Given the description of an element on the screen output the (x, y) to click on. 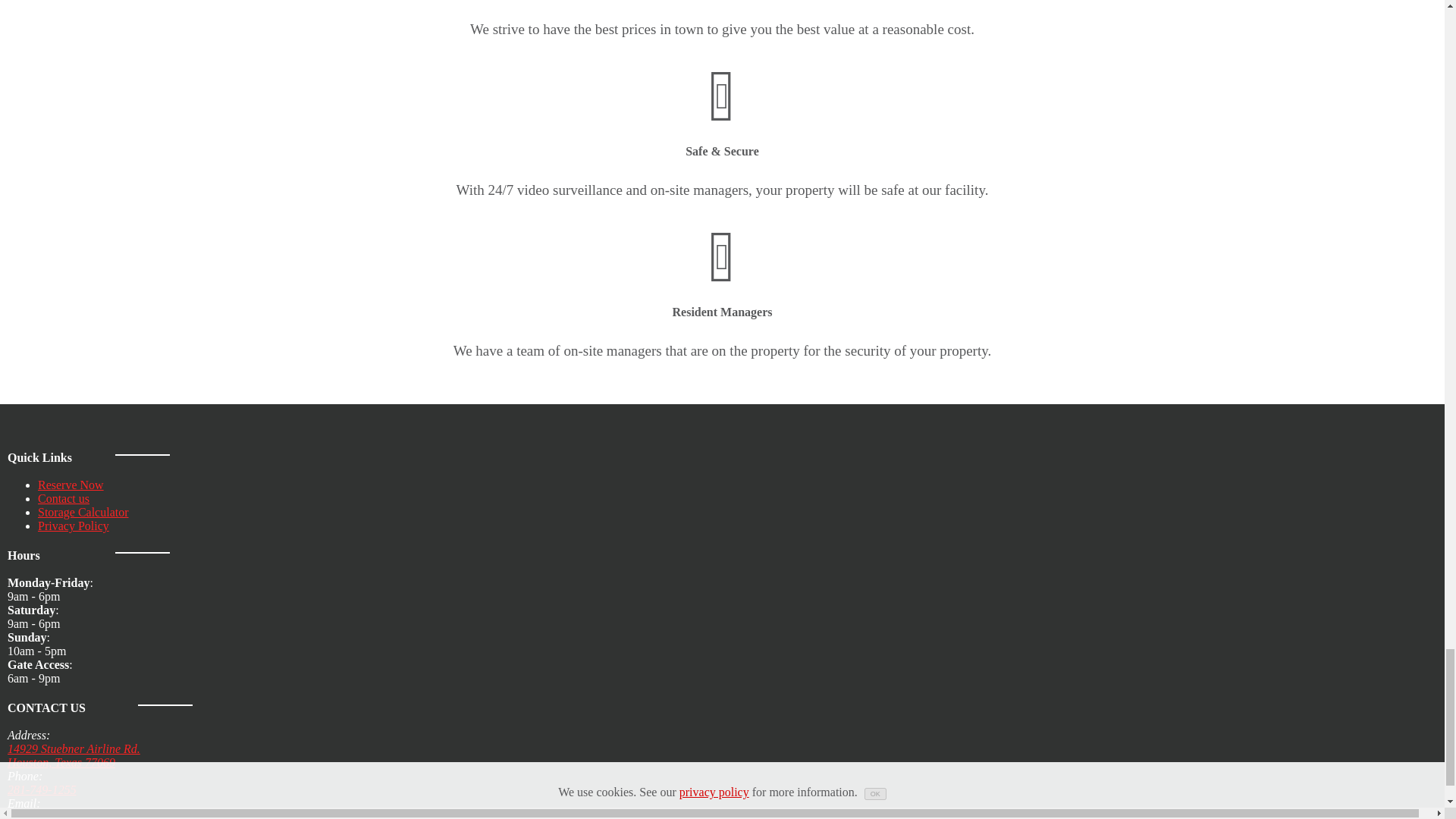
Storage Calculator (83, 512)
Reserve Now (73, 755)
Contact us (70, 484)
Privacy Policy (62, 498)
281-749-1255 (73, 525)
